Given the description of an element on the screen output the (x, y) to click on. 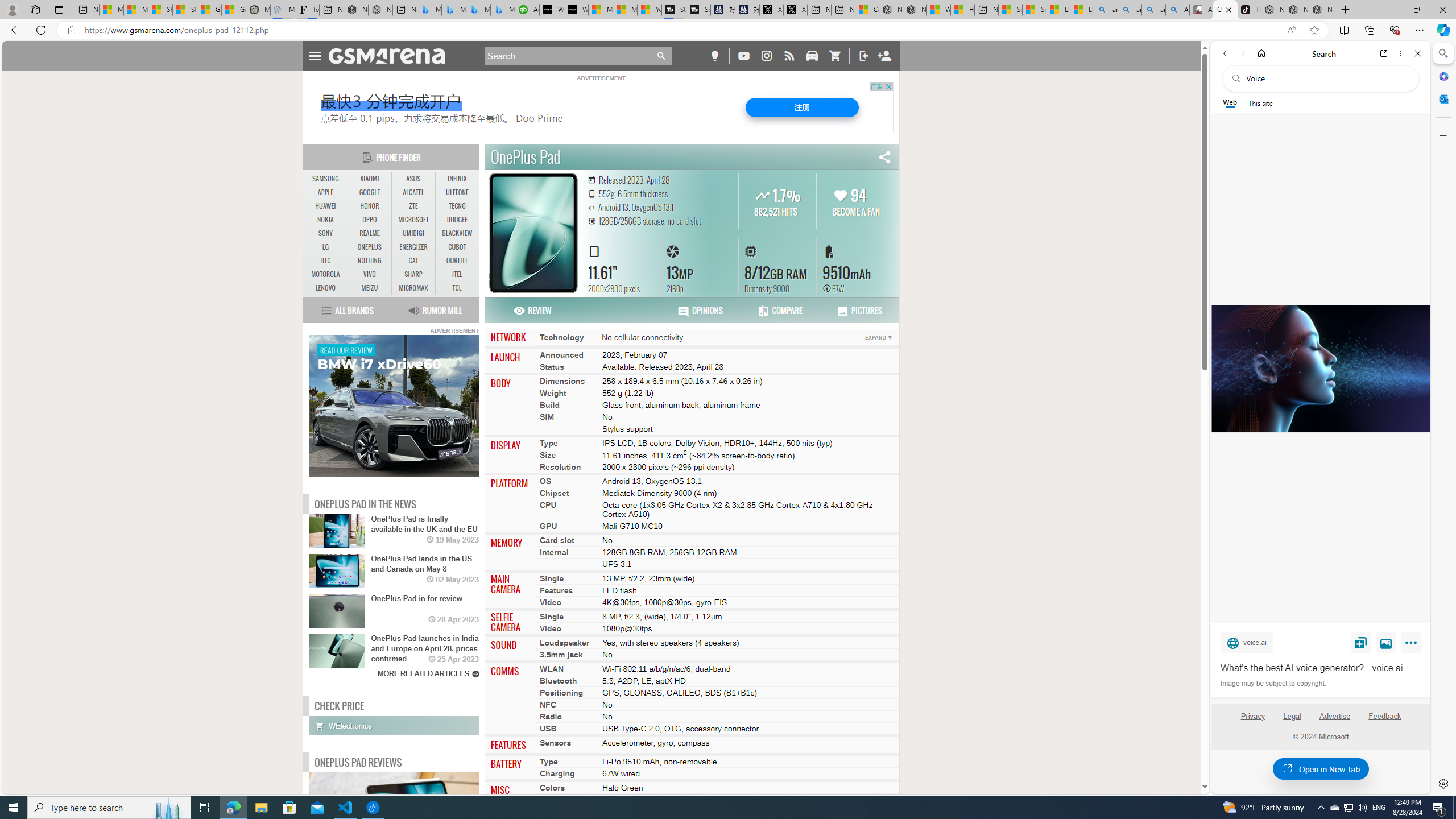
SONY (325, 233)
More options (1401, 53)
Advertise (1335, 715)
DOOGEE (457, 219)
ITEL (457, 273)
LENOVO (325, 287)
Image may be subject to copyright. (1273, 682)
ALCATEL (413, 192)
UMIDIGI (413, 233)
OnePlus Pad user reviews and opinions (700, 310)
